Given the description of an element on the screen output the (x, y) to click on. 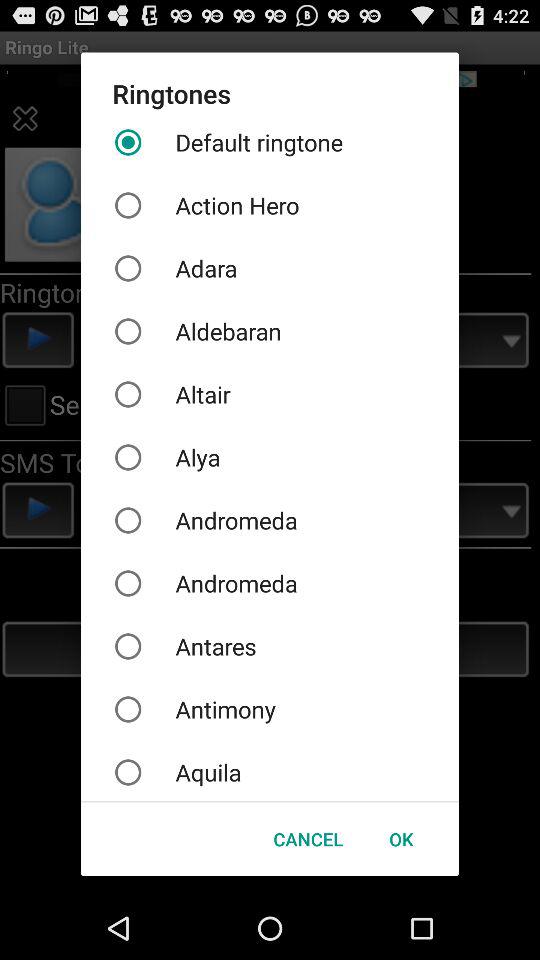
select icon next to the ok (308, 838)
